Given the description of an element on the screen output the (x, y) to click on. 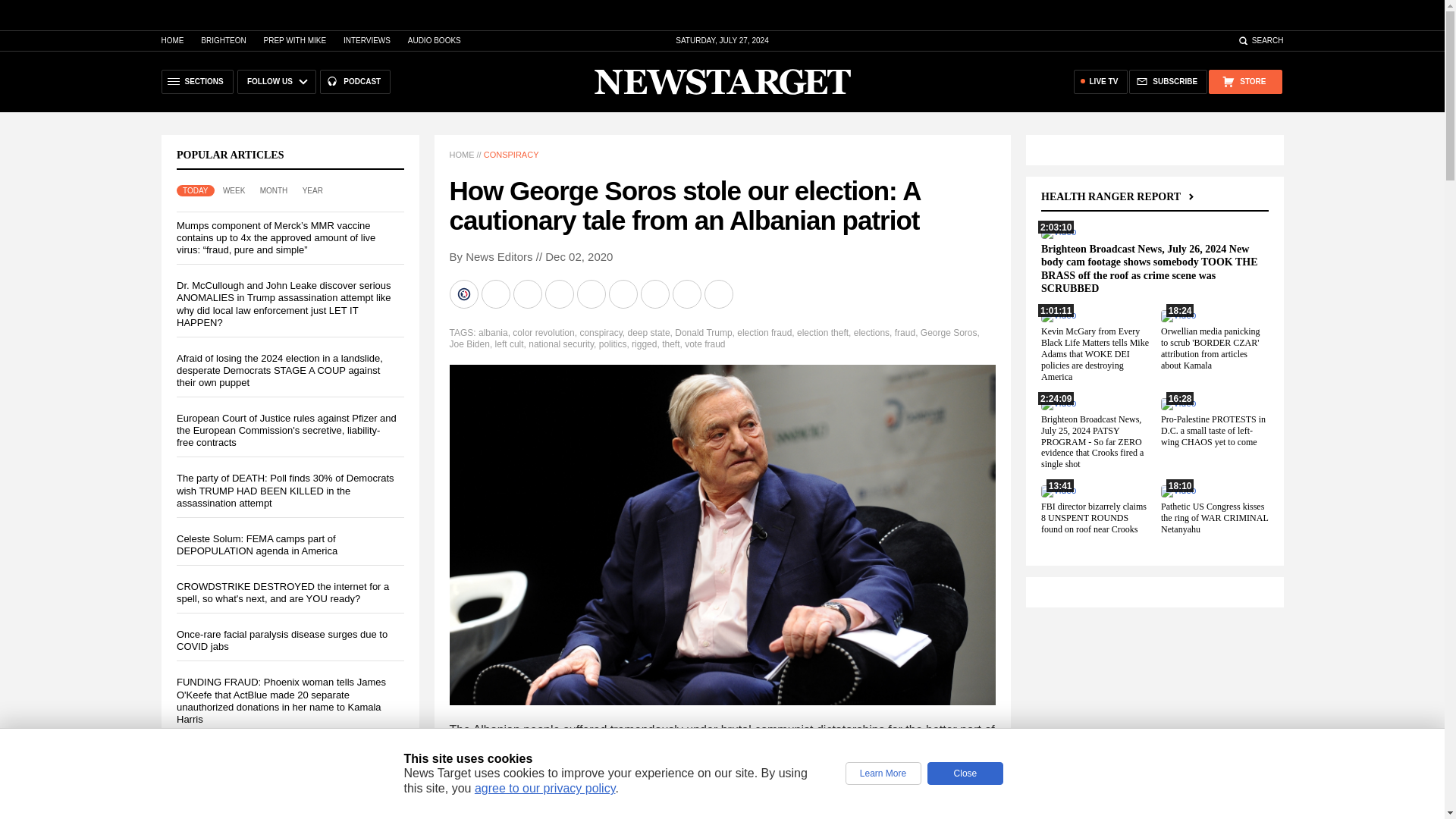
Share on Truth.Social (655, 294)
AUDIO BOOKS (434, 40)
PODCAST (355, 81)
Share on Facebook (496, 294)
INTERVIEWS (366, 40)
SUBSCRIBE (1168, 81)
Share on Parler (624, 294)
LIVE TV (1101, 81)
STORE (1244, 81)
Share on Gettr (687, 294)
HOME (171, 40)
